Given the description of an element on the screen output the (x, y) to click on. 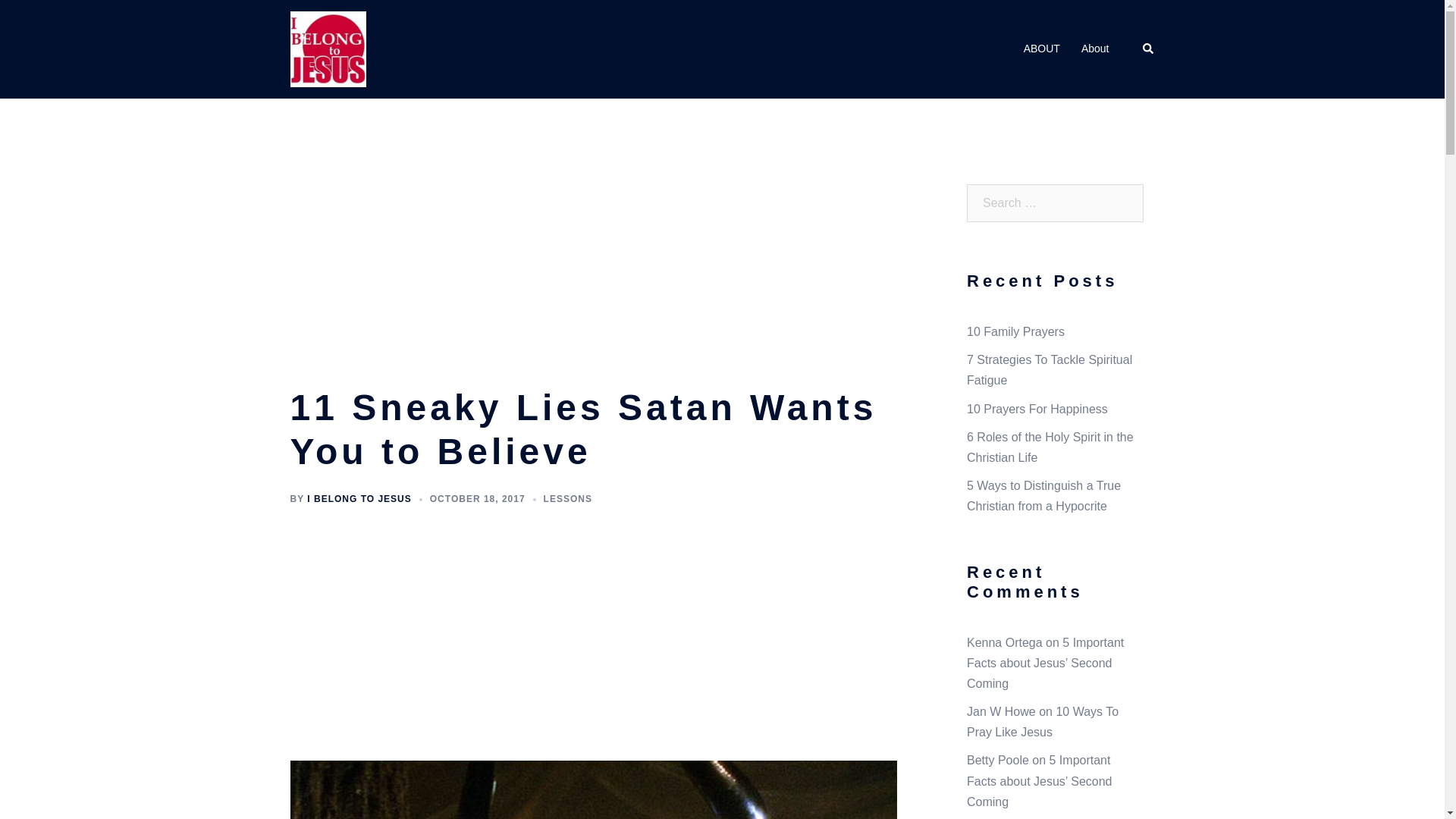
About (1095, 49)
I Belong To Jesus (327, 47)
LESSONS (567, 498)
7 Strategies To Tackle Spiritual Fatigue (1049, 369)
ABOUT (1041, 49)
Advertisement (599, 635)
10 Ways To Pray Like Jesus (1042, 721)
5 Ways to Distinguish a True Christian from a Hypocrite (1043, 495)
10 Prayers For Happiness (1037, 408)
OCTOBER 18, 2017 (477, 498)
Advertisement (599, 273)
6 Roles of the Holy Spirit in the Christian Life (1050, 447)
Search (1147, 49)
10 Family Prayers (1015, 331)
I BELONG TO JESUS (358, 498)
